Given the description of an element on the screen output the (x, y) to click on. 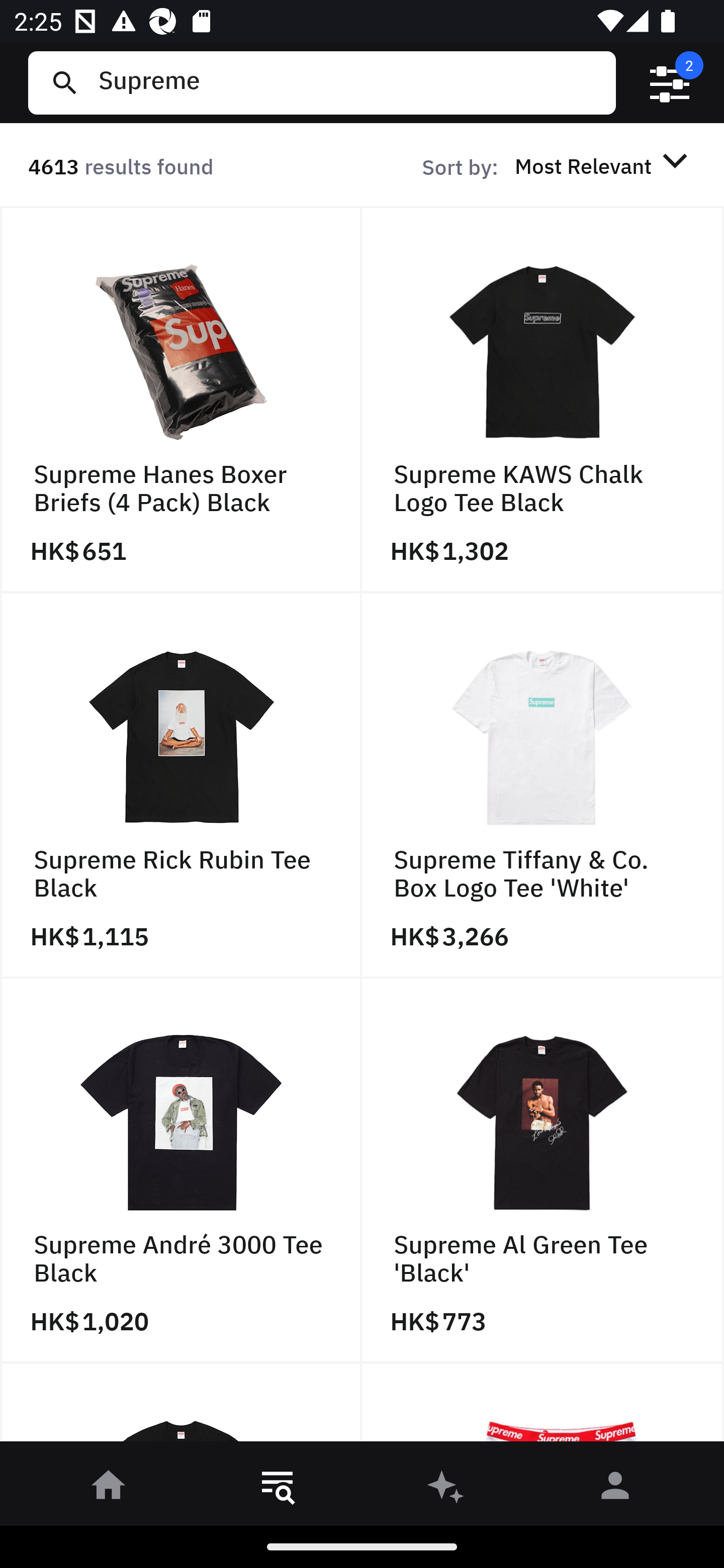
Supreme (349, 82)
 (669, 82)
Most Relevant  (604, 165)
Supreme Hanes Boxer Briefs (4 Pack) Black HK$ 651 (181, 399)
Supreme KAWS Chalk Logo Tee Black HK$ 1,302 (543, 399)
Supreme Rick Rubin Tee Black HK$ 1,115 (181, 785)
Supreme André 3000 Tee Black HK$ 1,020 (181, 1171)
Supreme Al Green Tee 'Black' HK$ 773 (543, 1171)
󰋜 (108, 1488)
󱎸 (277, 1488)
󰫢 (446, 1488)
󰀄 (615, 1488)
